Given the description of an element on the screen output the (x, y) to click on. 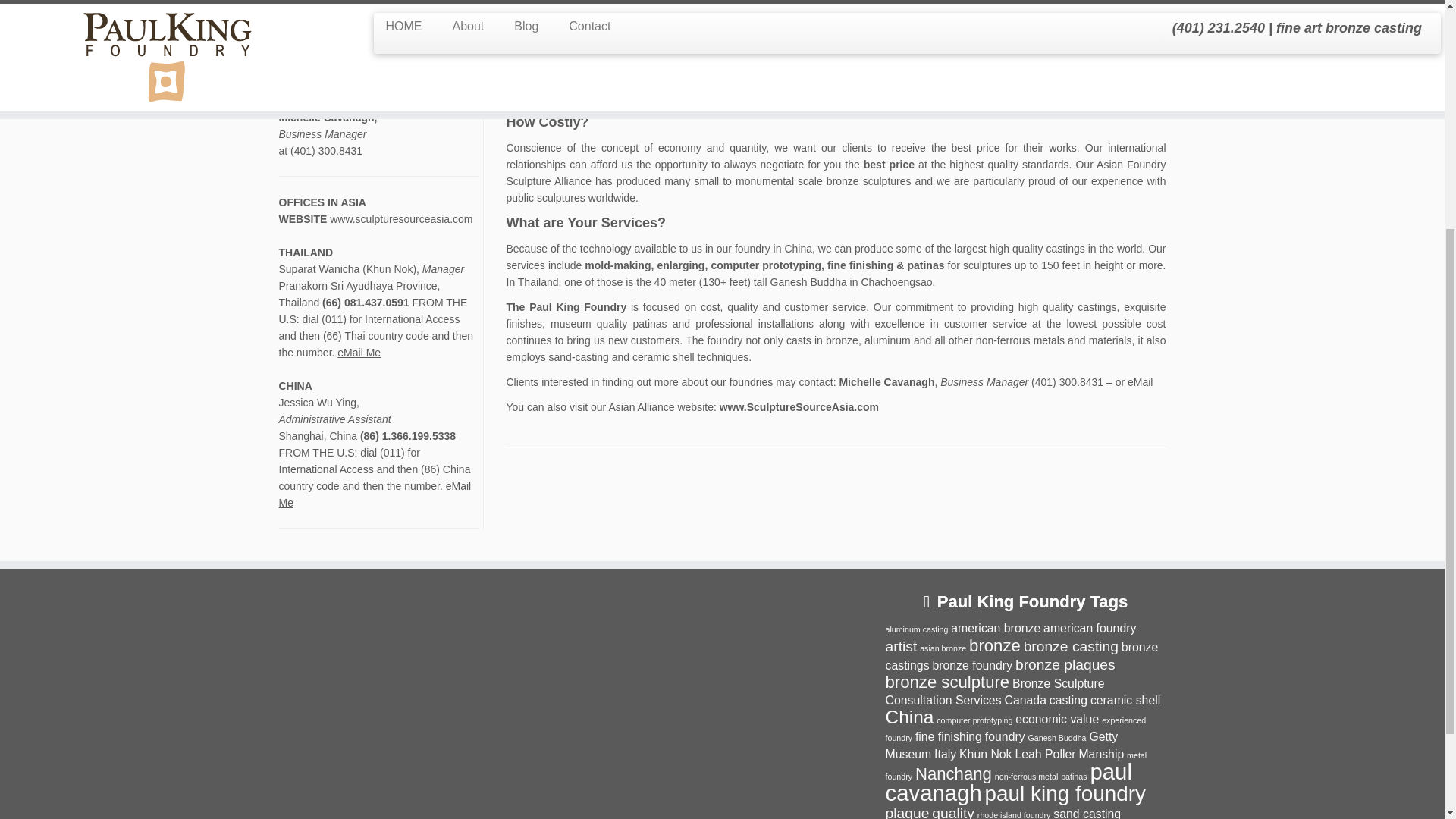
Ganesh Buddha (1056, 737)
Bronze Sculpture Consultation Services (995, 691)
casting (1068, 699)
bronze plaques (1064, 664)
bronze castings (1021, 655)
www.SculptureSourceAsia.com (799, 407)
american bronze (995, 627)
www.sculpturesourceasia.com (400, 218)
bronze casting (1070, 646)
eMail Me (425, 67)
bronze sculpture (947, 681)
aluminum casting (917, 628)
bronze foundry (971, 665)
eMail Me (300, 17)
eMail Me (358, 352)
